Given the description of an element on the screen output the (x, y) to click on. 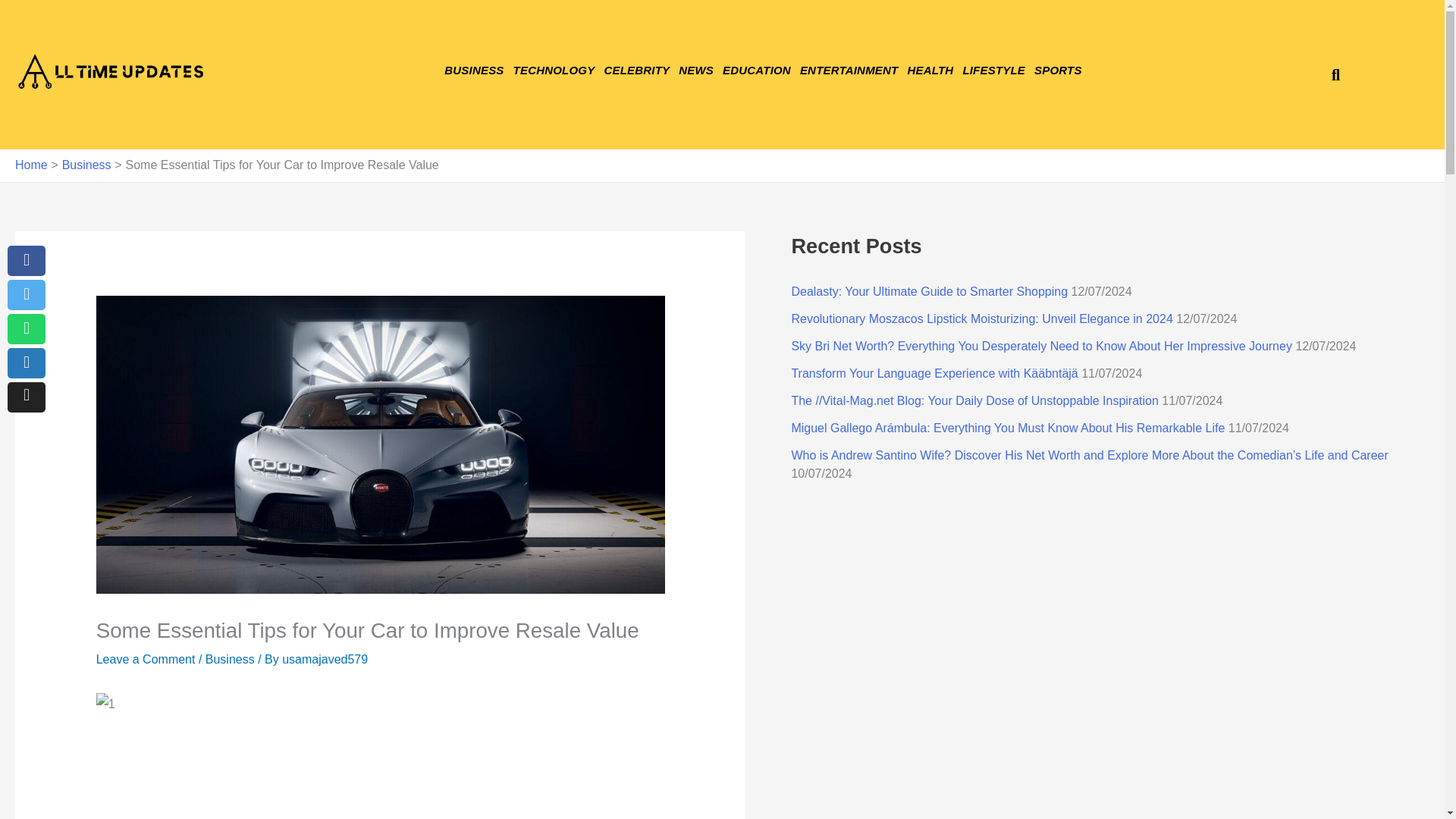
View all posts by usamajaved579 (325, 658)
ENTERTAINMENT (848, 69)
Leave a Comment (145, 658)
BUSINESS (473, 69)
LIFESTYLE (993, 69)
Business (229, 658)
Home (31, 164)
Dealasty: Your Ultimate Guide to Smarter Shopping (928, 291)
CELEBRITY (636, 69)
SPORTS (1057, 69)
Advertisement (380, 776)
Business (87, 164)
usamajaved579 (325, 658)
EDUCATION (755, 69)
